Given the description of an element on the screen output the (x, y) to click on. 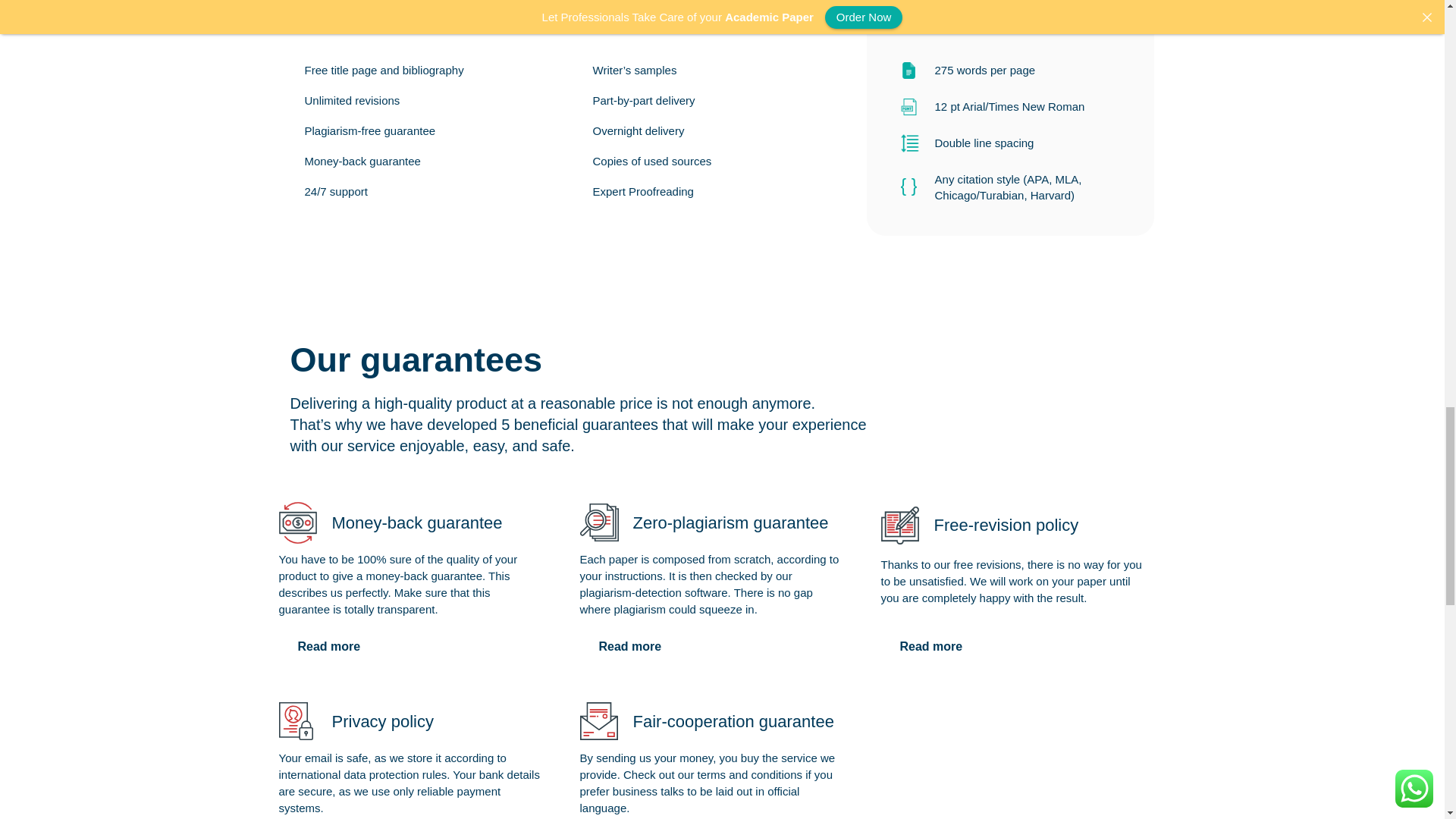
Read more (629, 646)
Read more (930, 646)
Read more (329, 646)
